Given the description of an element on the screen output the (x, y) to click on. 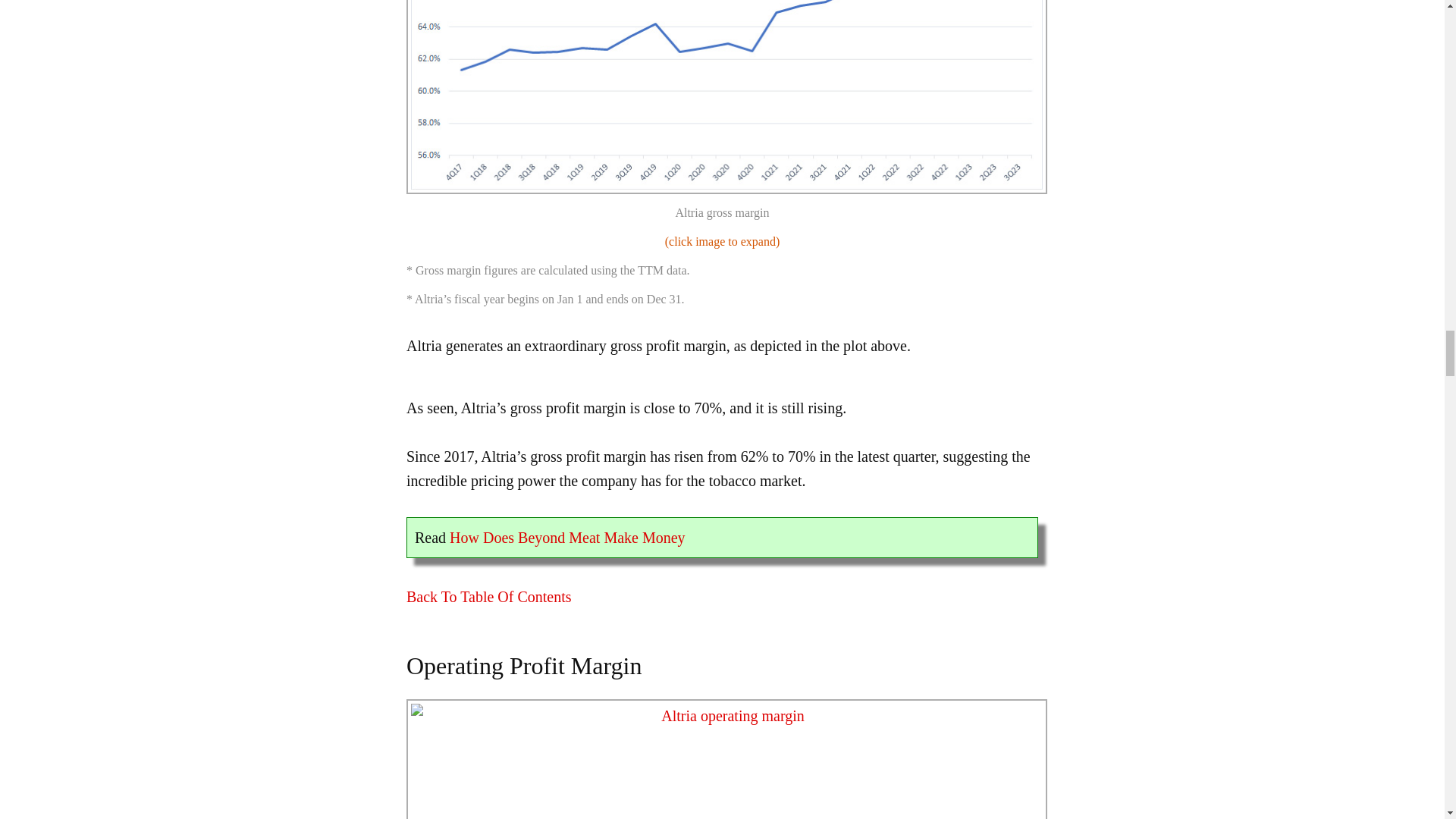
How Does Beyond Meat Make Money (567, 537)
Back To Table Of Contents (489, 596)
Altria operating margin (726, 759)
Altria gross margin (726, 97)
